Given the description of an element on the screen output the (x, y) to click on. 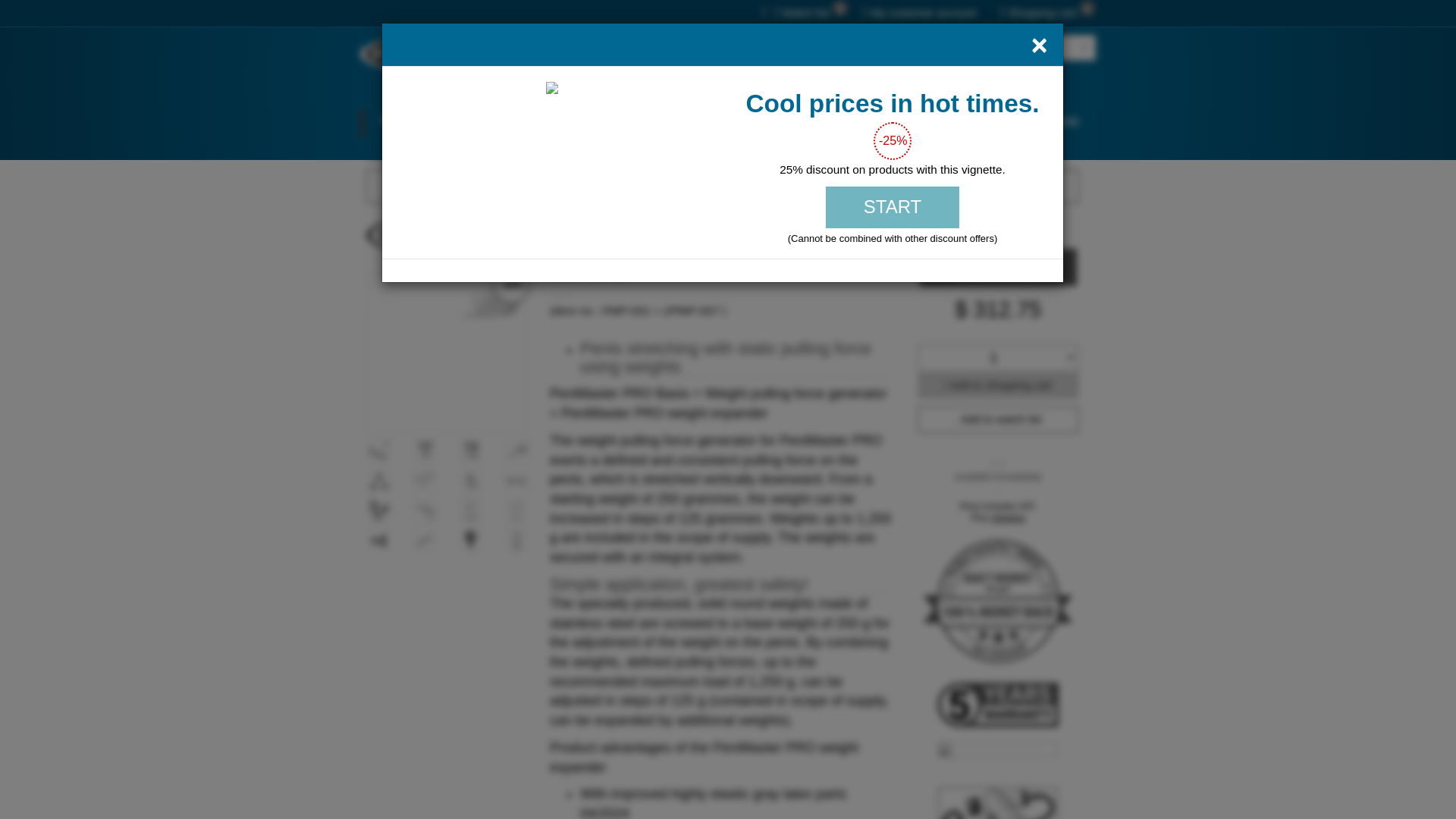
PeniMaster models (438, 123)
Accessories (786, 123)
START (892, 206)
